Given the description of an element on the screen output the (x, y) to click on. 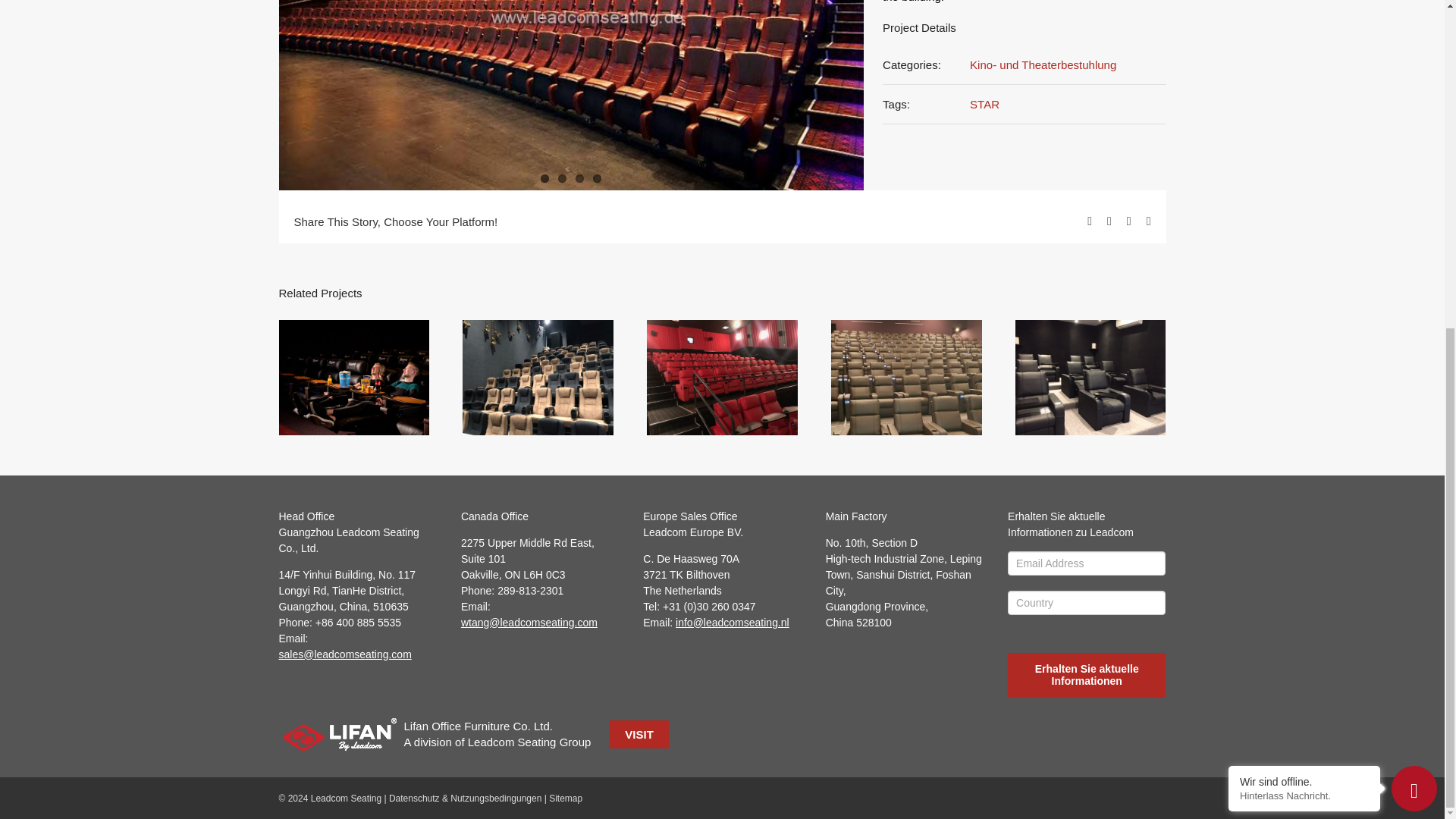
Hinterlass Nachricht. (1304, 254)
leadcom cinema seating installatio Epic Cinema (571, 95)
Wir sind offline. (1304, 240)
